Given the description of an element on the screen output the (x, y) to click on. 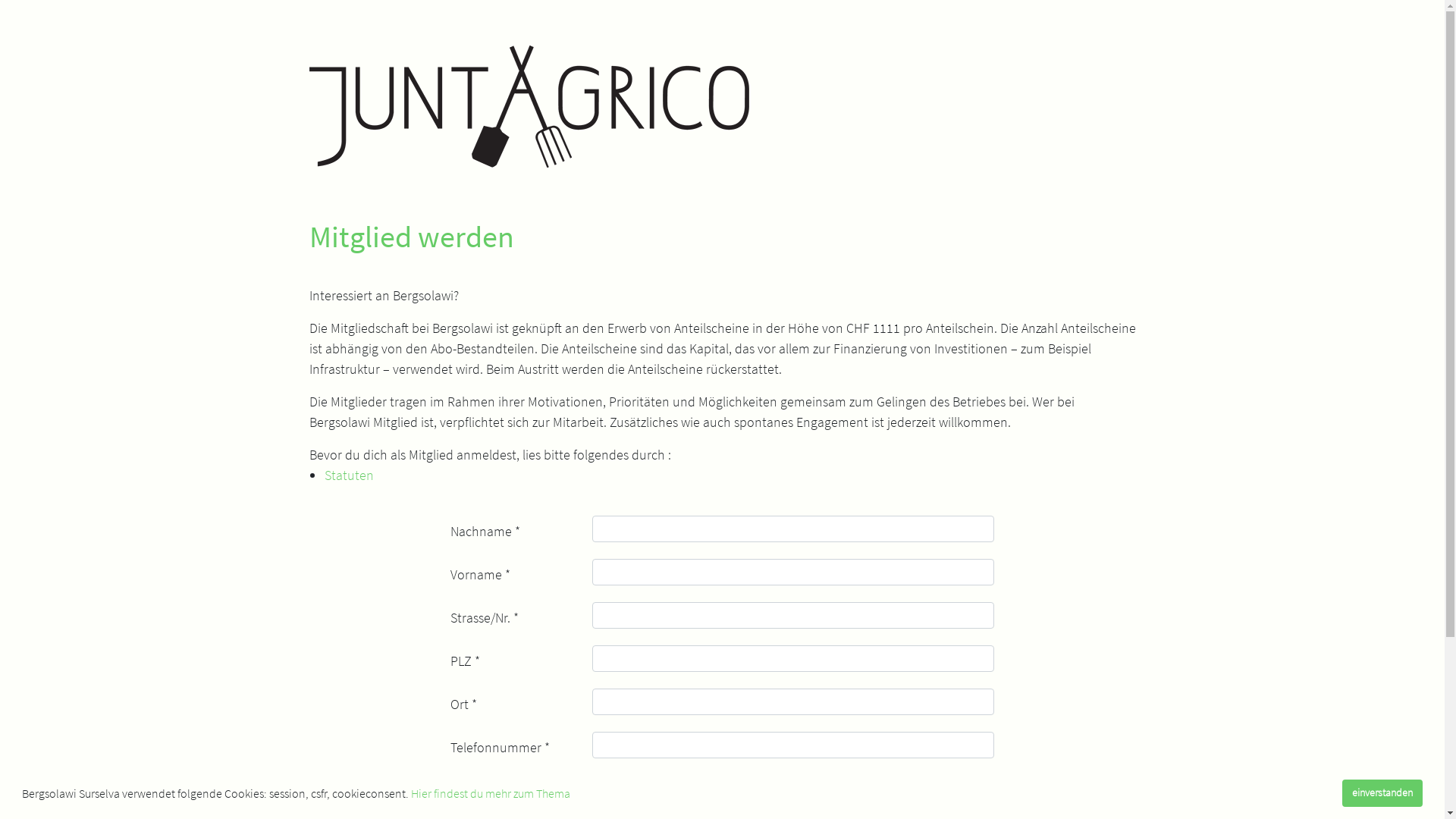
einverstanden Element type: text (1382, 792)
Hier findest du mehr zum Thema Element type: text (490, 792)
Statuten Element type: text (348, 474)
